Given the description of an element on the screen output the (x, y) to click on. 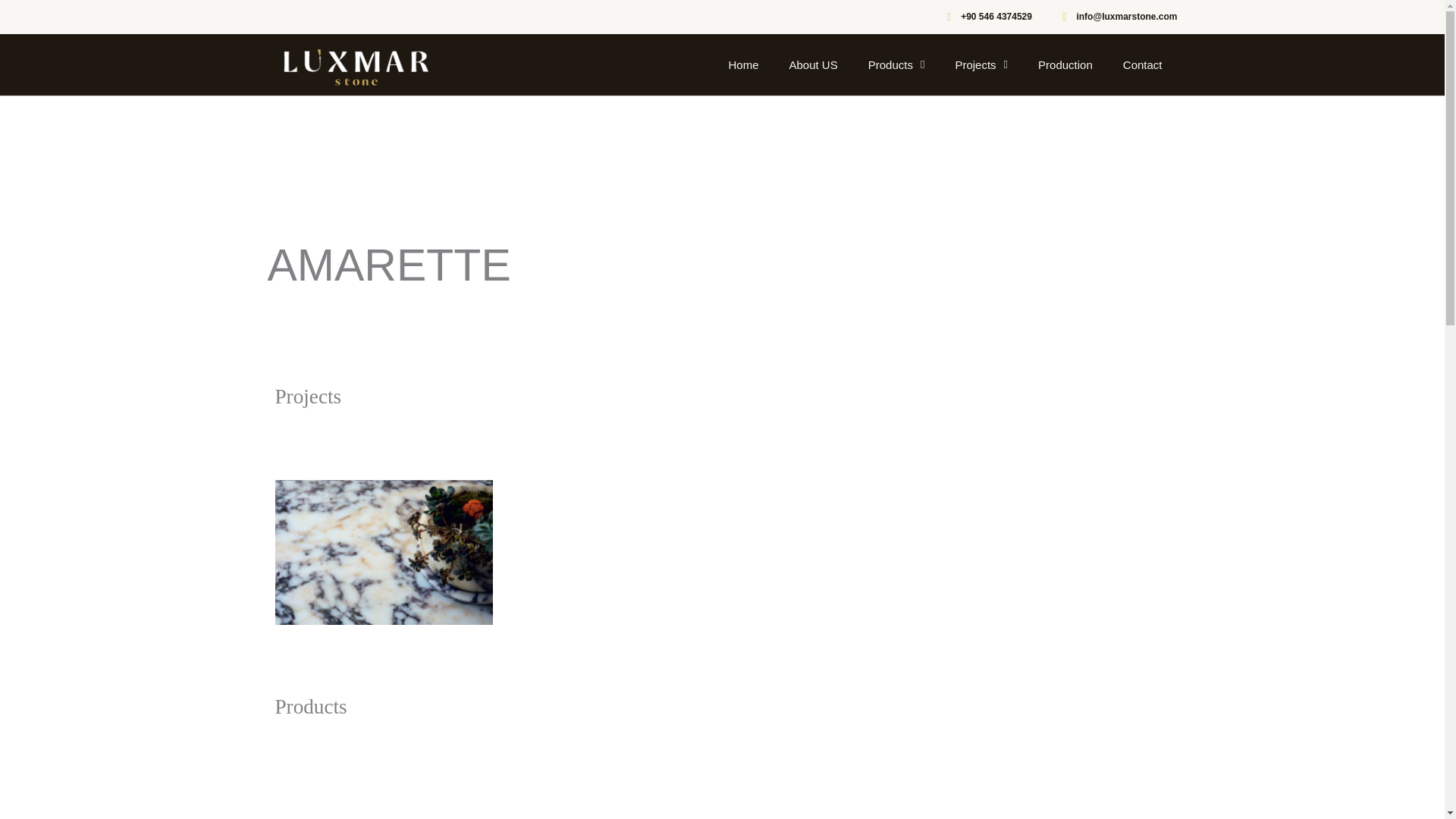
Projects (981, 64)
Home (743, 64)
Contact (1142, 64)
Products (896, 64)
Production (1065, 64)
About US (812, 64)
